Given the description of an element on the screen output the (x, y) to click on. 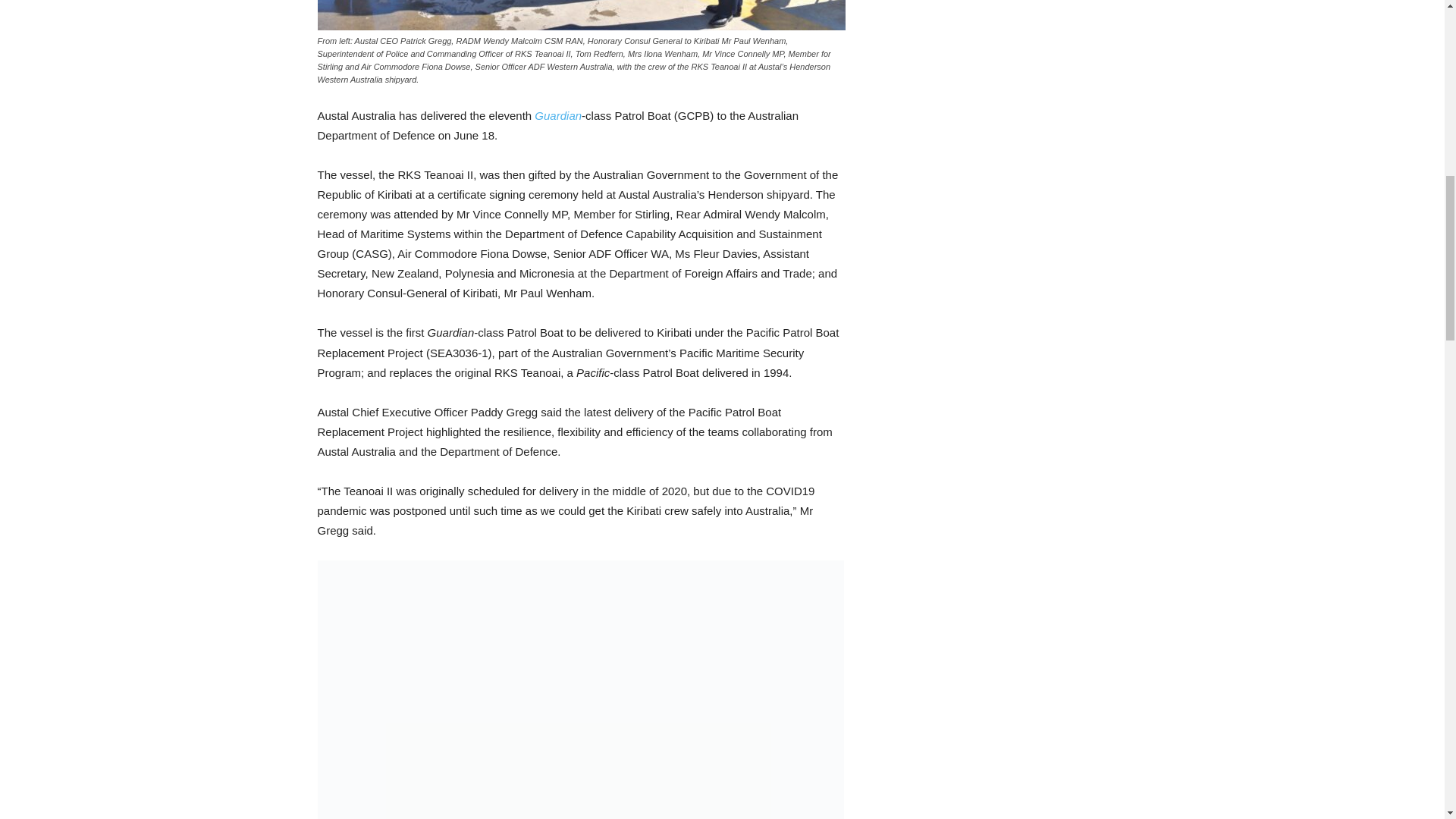
Guardian (557, 115)
